Given the description of an element on the screen output the (x, y) to click on. 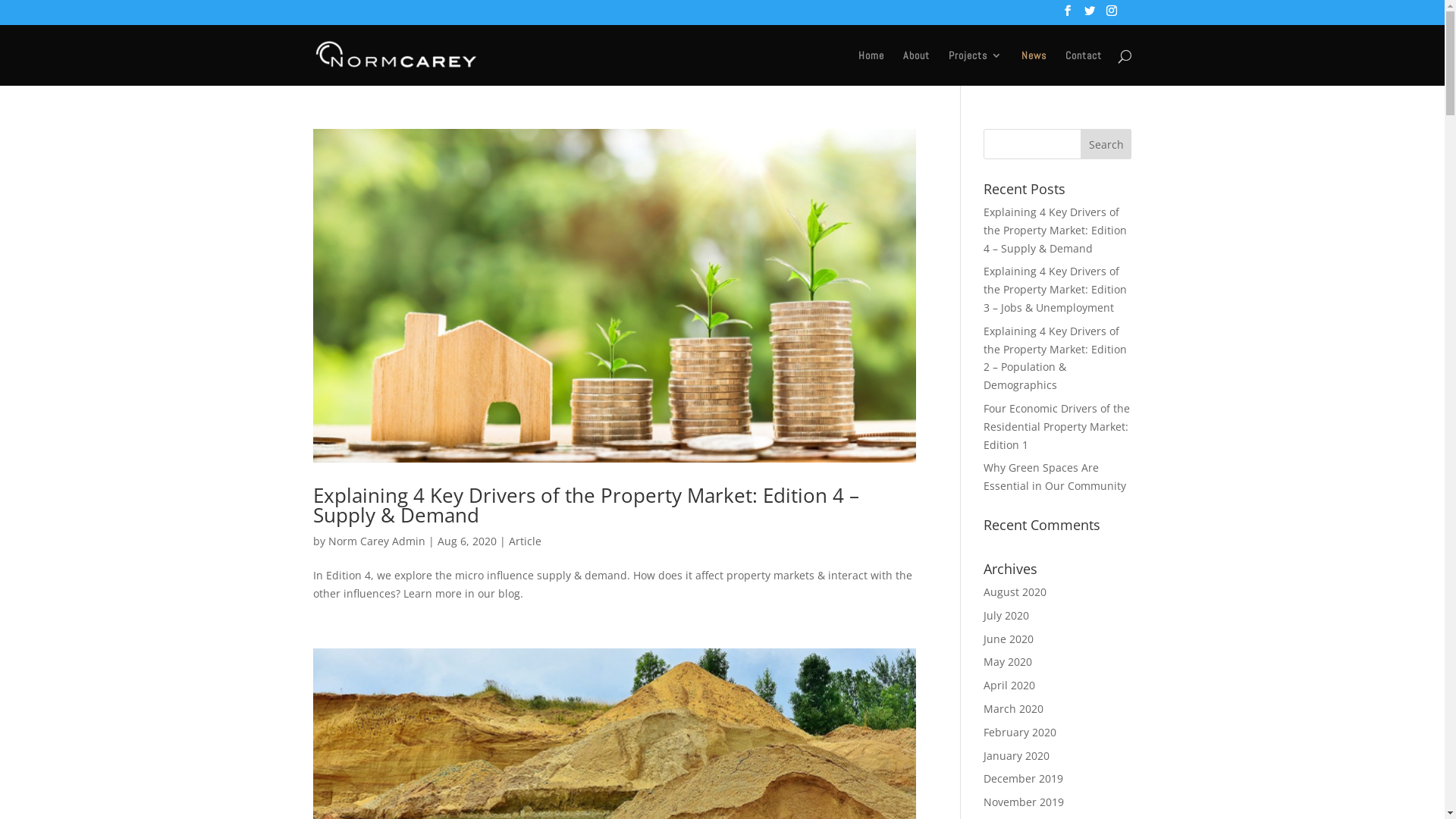
Contact Element type: text (1082, 67)
August 2020 Element type: text (1014, 591)
November 2019 Element type: text (1023, 801)
Why Green Spaces Are Essential in Our Community Element type: text (1054, 476)
May 2020 Element type: text (1007, 661)
About Element type: text (915, 67)
March 2020 Element type: text (1013, 708)
News Element type: text (1032, 67)
Norm Carey Admin Element type: text (375, 540)
Article Element type: text (524, 540)
July 2020 Element type: text (1006, 615)
Projects Element type: text (974, 67)
April 2020 Element type: text (1009, 684)
December 2019 Element type: text (1023, 778)
January 2020 Element type: text (1016, 755)
Home Element type: text (871, 67)
Search Element type: text (1106, 143)
February 2020 Element type: text (1019, 731)
June 2020 Element type: text (1008, 638)
